Given the description of an element on the screen output the (x, y) to click on. 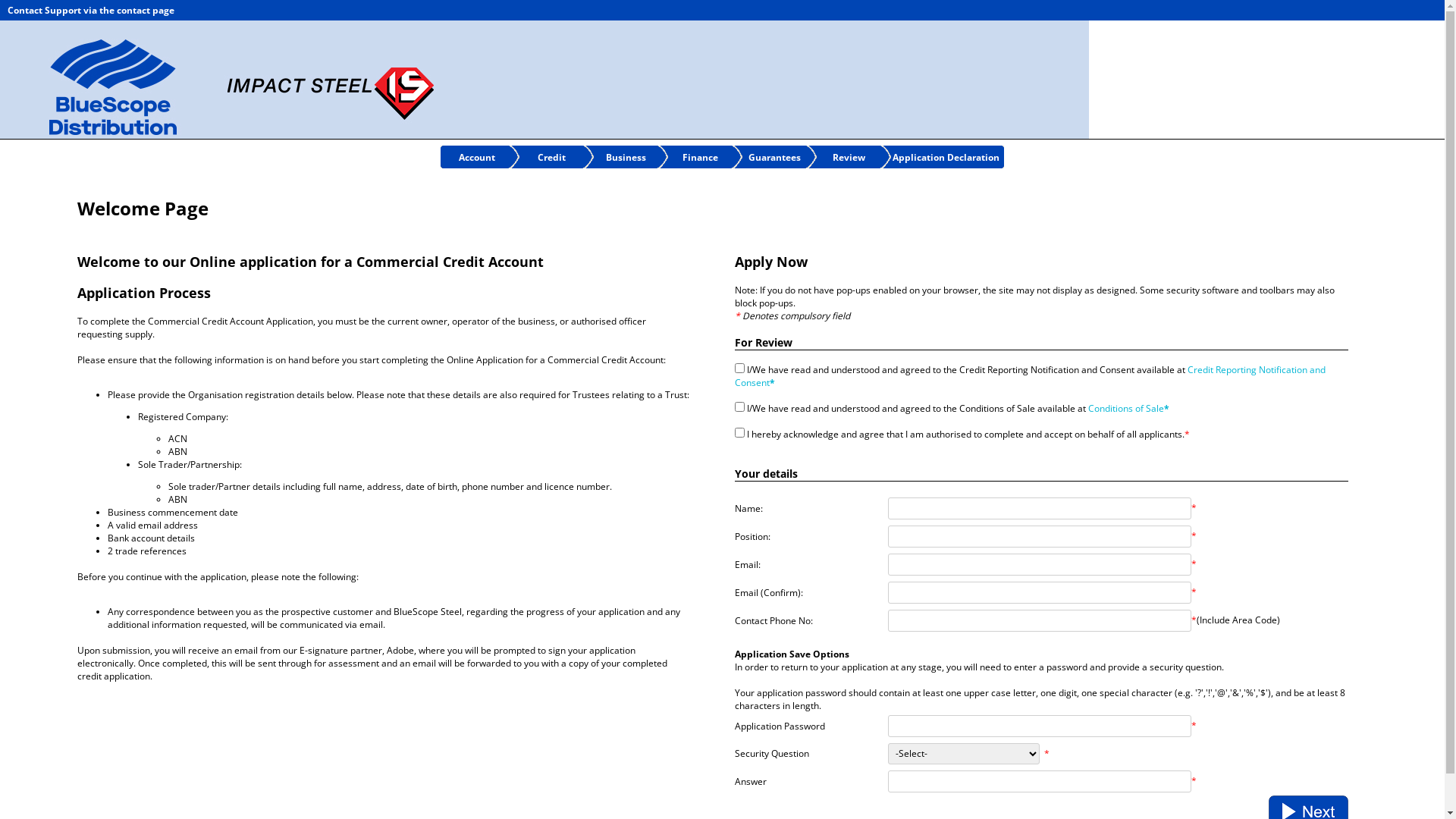
Conditions of Sale Element type: text (1126, 407)
Credit Reporting Notification and Consent Element type: text (1029, 375)
on Element type: text (739, 406)
on Element type: text (739, 367)
